Given the description of an element on the screen output the (x, y) to click on. 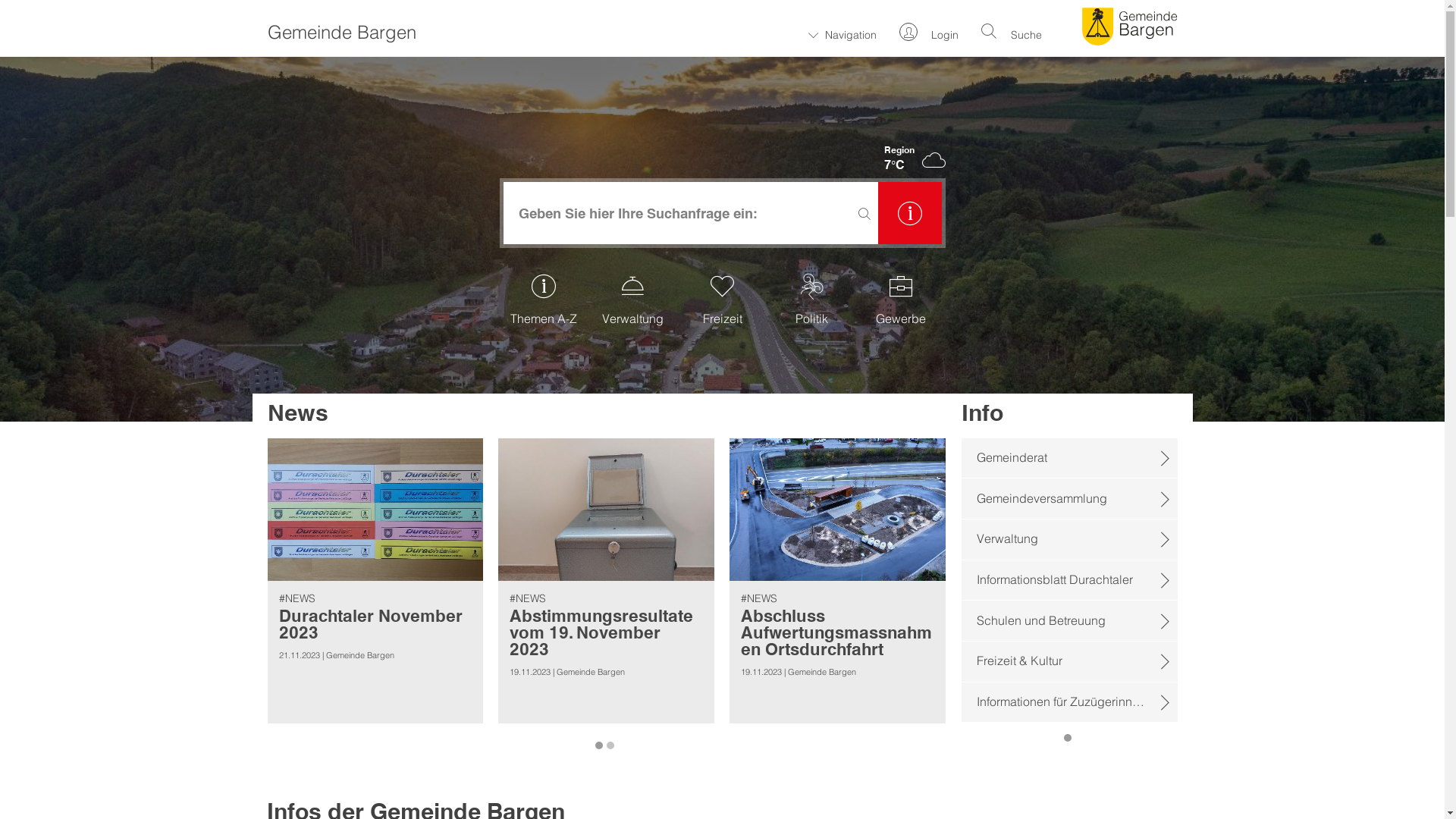
Informationsblatt Durachtaler Element type: text (1069, 580)
Schulen und Betreuung Element type: text (1069, 620)
Suche Element type: text (1011, 30)
Freizeit & Kultur Element type: text (1069, 661)
Verwaltung Element type: text (1069, 539)
Gemeinderat Element type: text (1069, 458)
Gewerbe Element type: text (900, 302)
Politik Element type: text (811, 302)
Verwaltung Element type: text (632, 302)
Freizeit Element type: text (722, 302)
Hilfe Element type: hover (909, 213)
Navigation Element type: text (842, 31)
Themen A-Z Element type: text (544, 302)
Gemeindeversammlung Element type: text (1069, 498)
Wolke Element type: hover (933, 157)
Suchfeld Element type: hover (687, 213)
Gemeinde Bargen Element type: hover (1129, 26)
Seite 1 von 1 Element type: text (1068, 729)
